Given the description of an element on the screen output the (x, y) to click on. 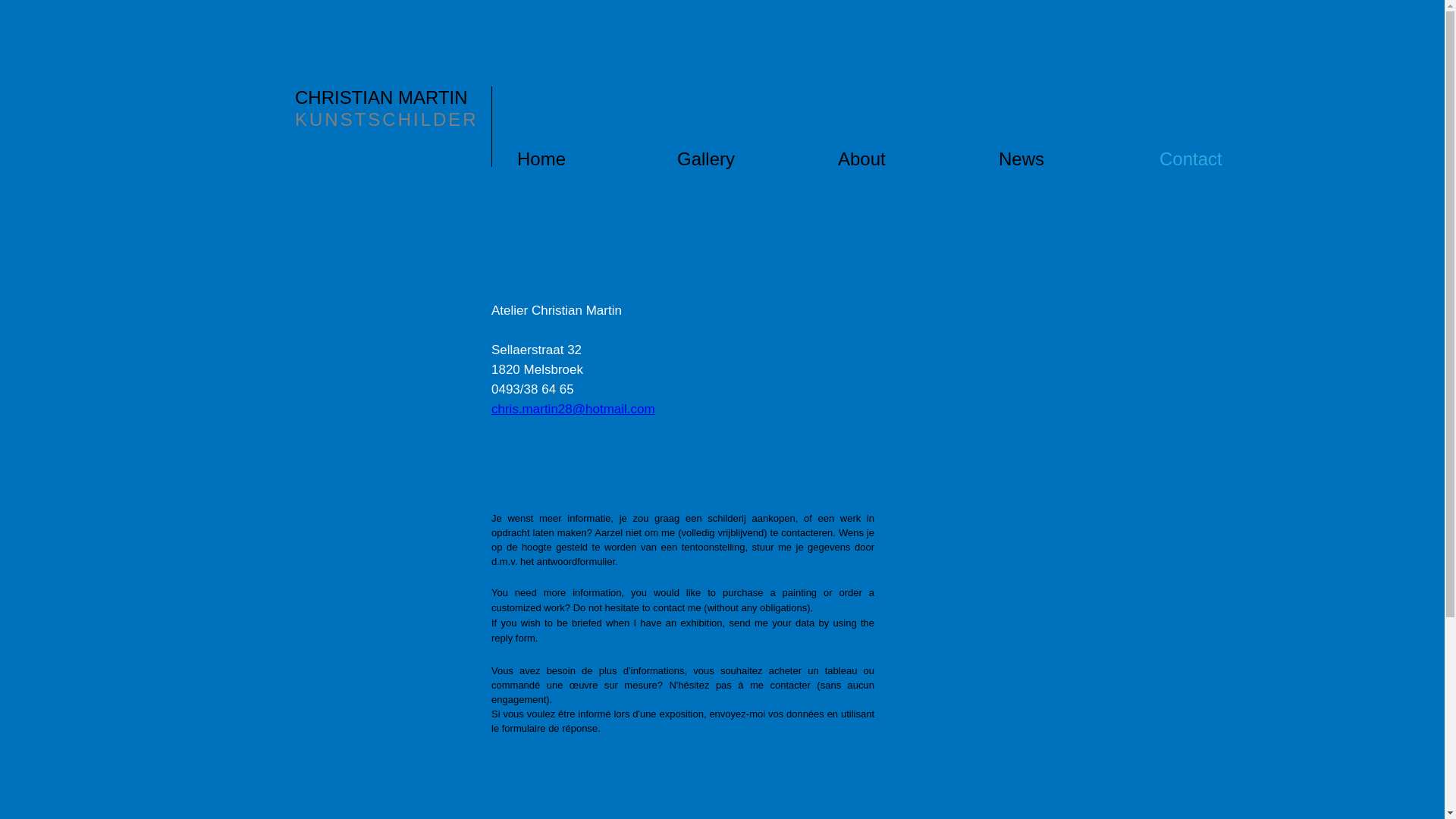
News Element type: text (1077, 158)
Home Element type: text (596, 158)
chris.martin28@hotmail.com Element type: text (573, 408)
Contact Element type: text (1238, 158)
About Element type: text (917, 158)
Gallery Element type: text (756, 158)
